Given the description of an element on the screen output the (x, y) to click on. 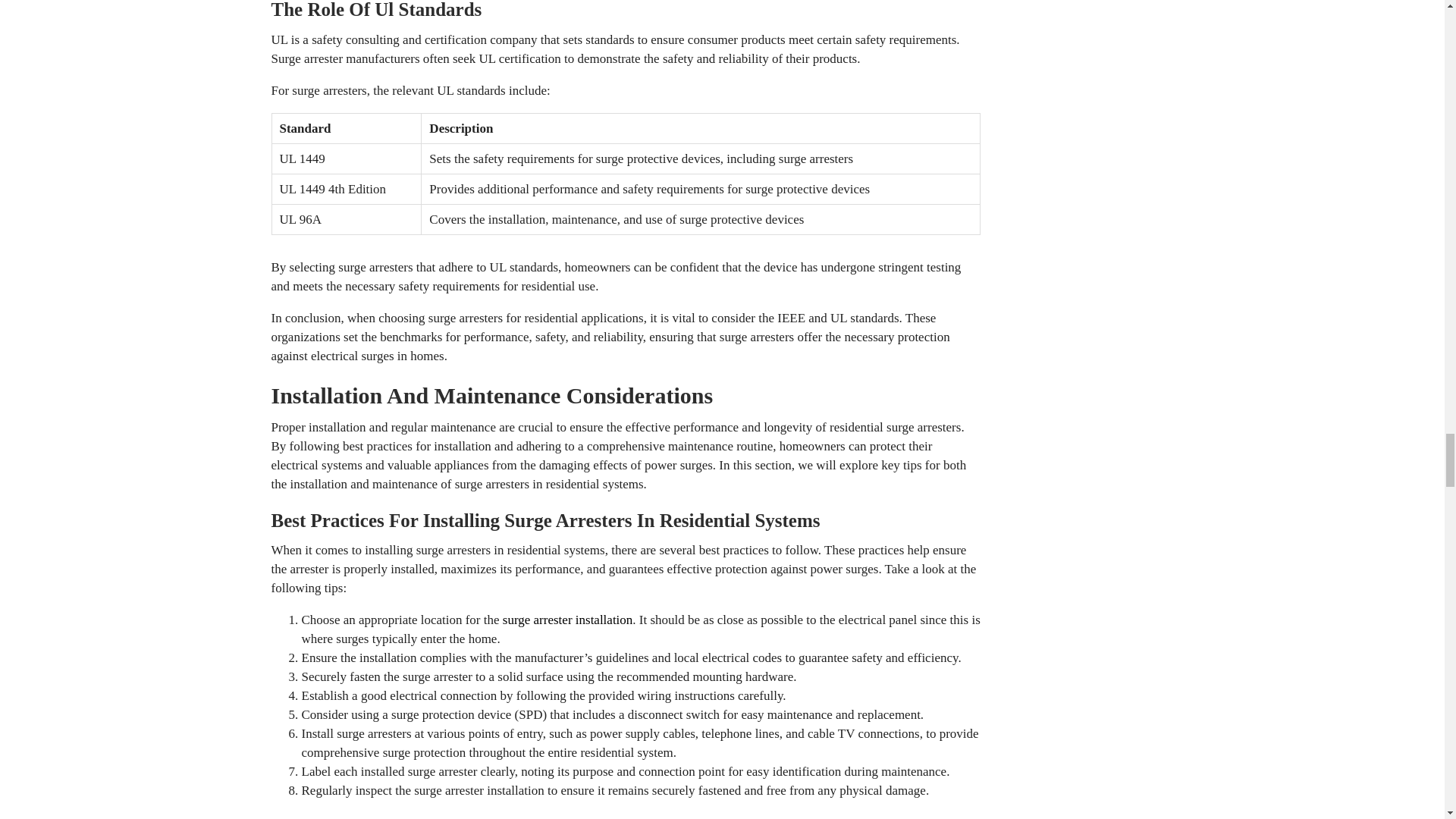
surge arrester installation (567, 619)
surge arrester installation (567, 619)
